Given the description of an element on the screen output the (x, y) to click on. 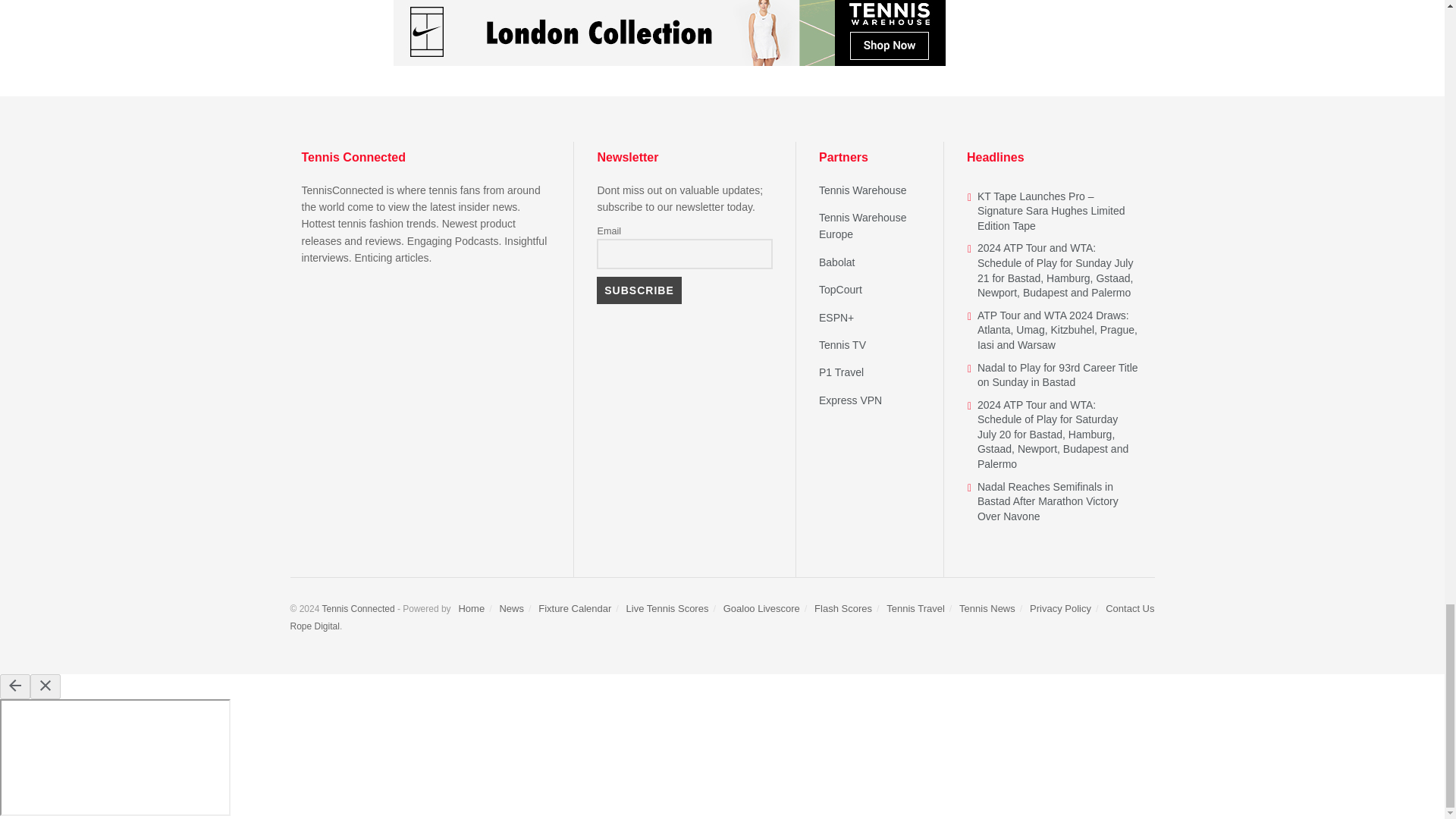
Subscribe (638, 289)
All rights reserved. (357, 608)
Rope Digital (314, 625)
